Given the description of an element on the screen output the (x, y) to click on. 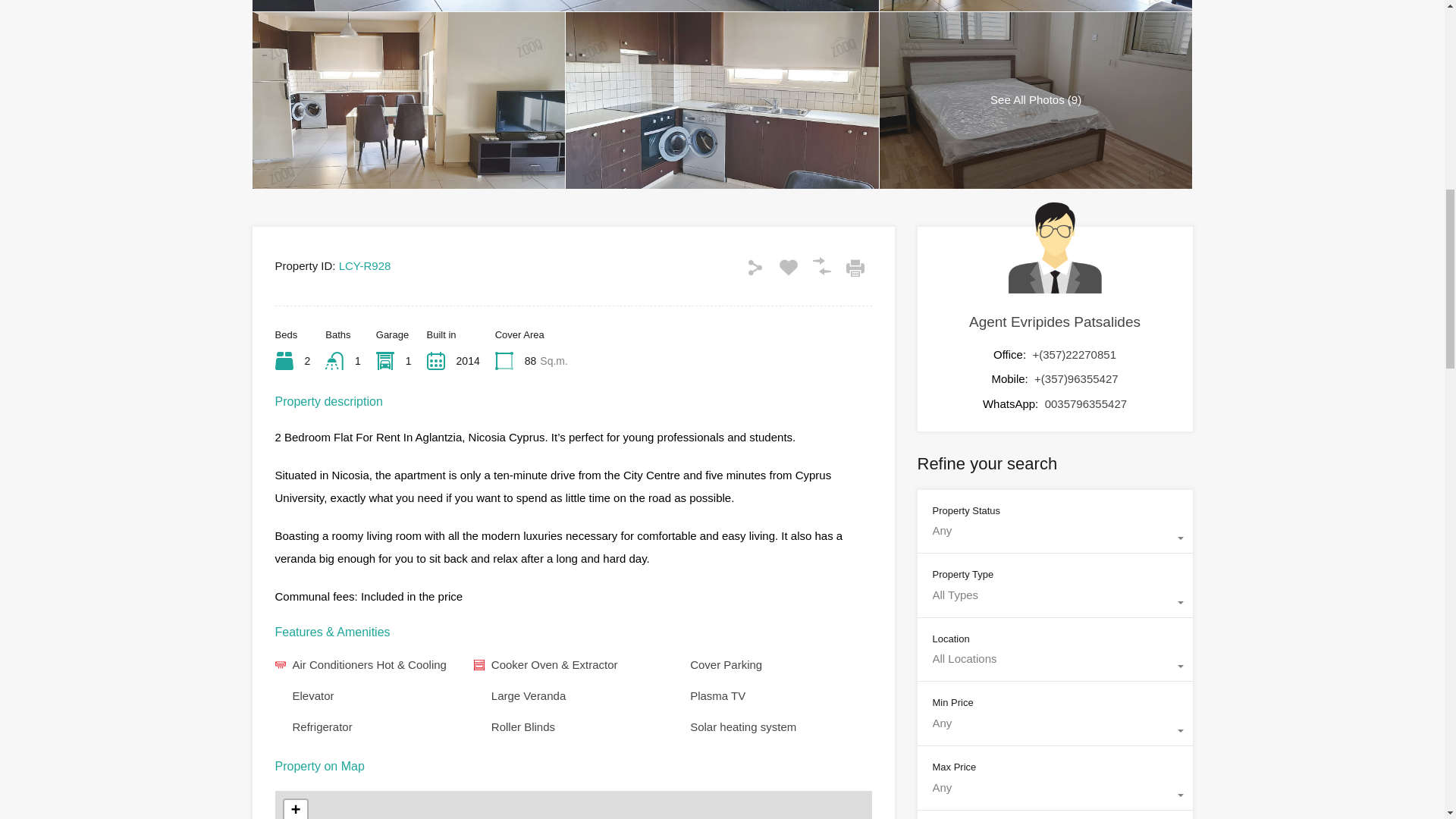
Roller Blinds (523, 726)
Refrigerator (322, 726)
Any (1054, 795)
All Locations (1054, 665)
Large Veranda (529, 695)
All Types (1054, 602)
Any (1054, 538)
Any (1054, 730)
Solar heating system (743, 726)
Zoom in (294, 809)
